Given the description of an element on the screen output the (x, y) to click on. 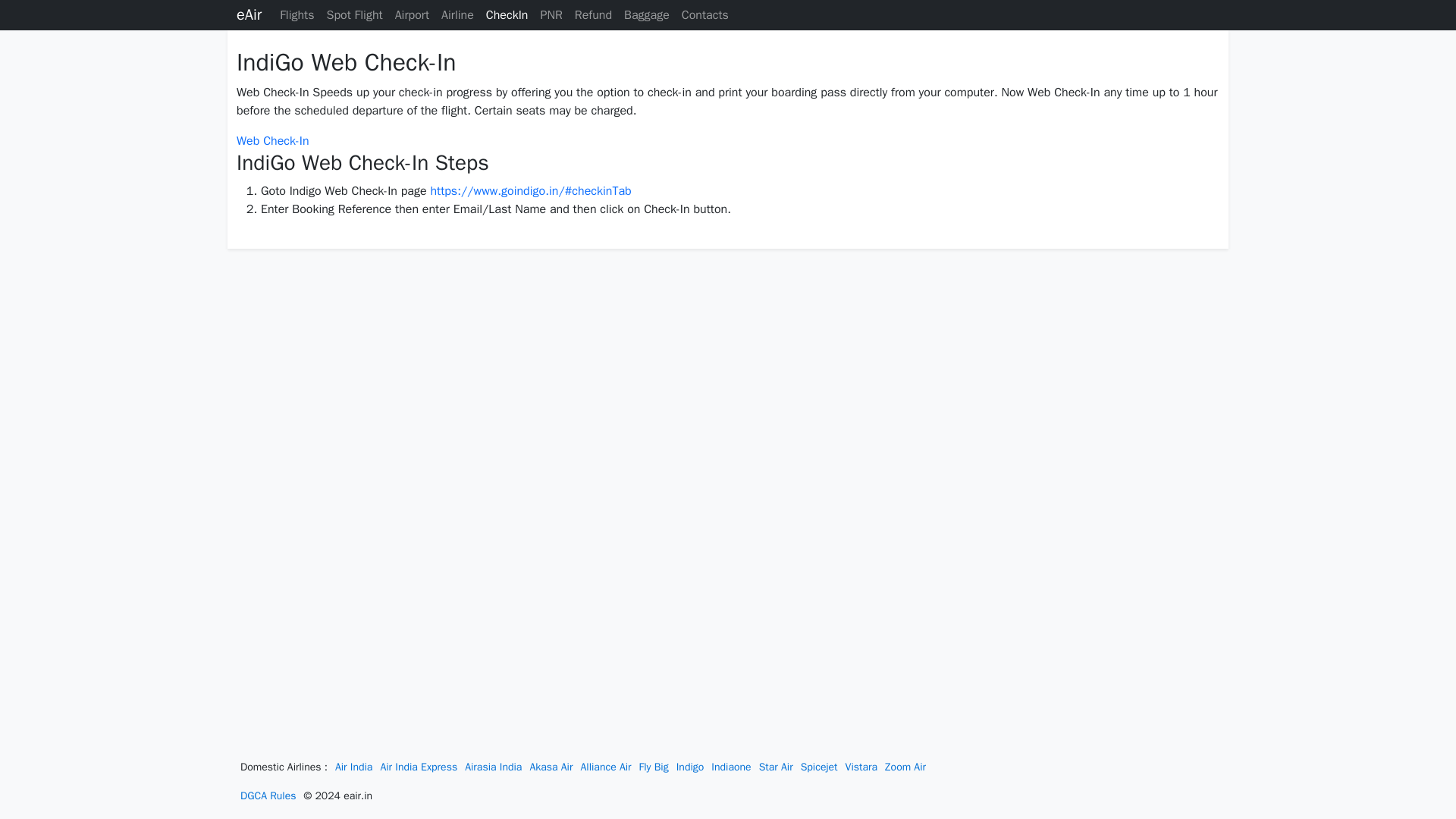
PNR Status (550, 15)
Airport (411, 15)
PNR (550, 15)
Airline Flight Ticket Cancellation Charges (593, 15)
Indigo Airline Web Check-In (529, 191)
DGCA Rules (268, 795)
Air India (353, 766)
Indigo (690, 766)
Spicejet (819, 766)
Indigo Airline Web Check-In (271, 140)
